Given the description of an element on the screen output the (x, y) to click on. 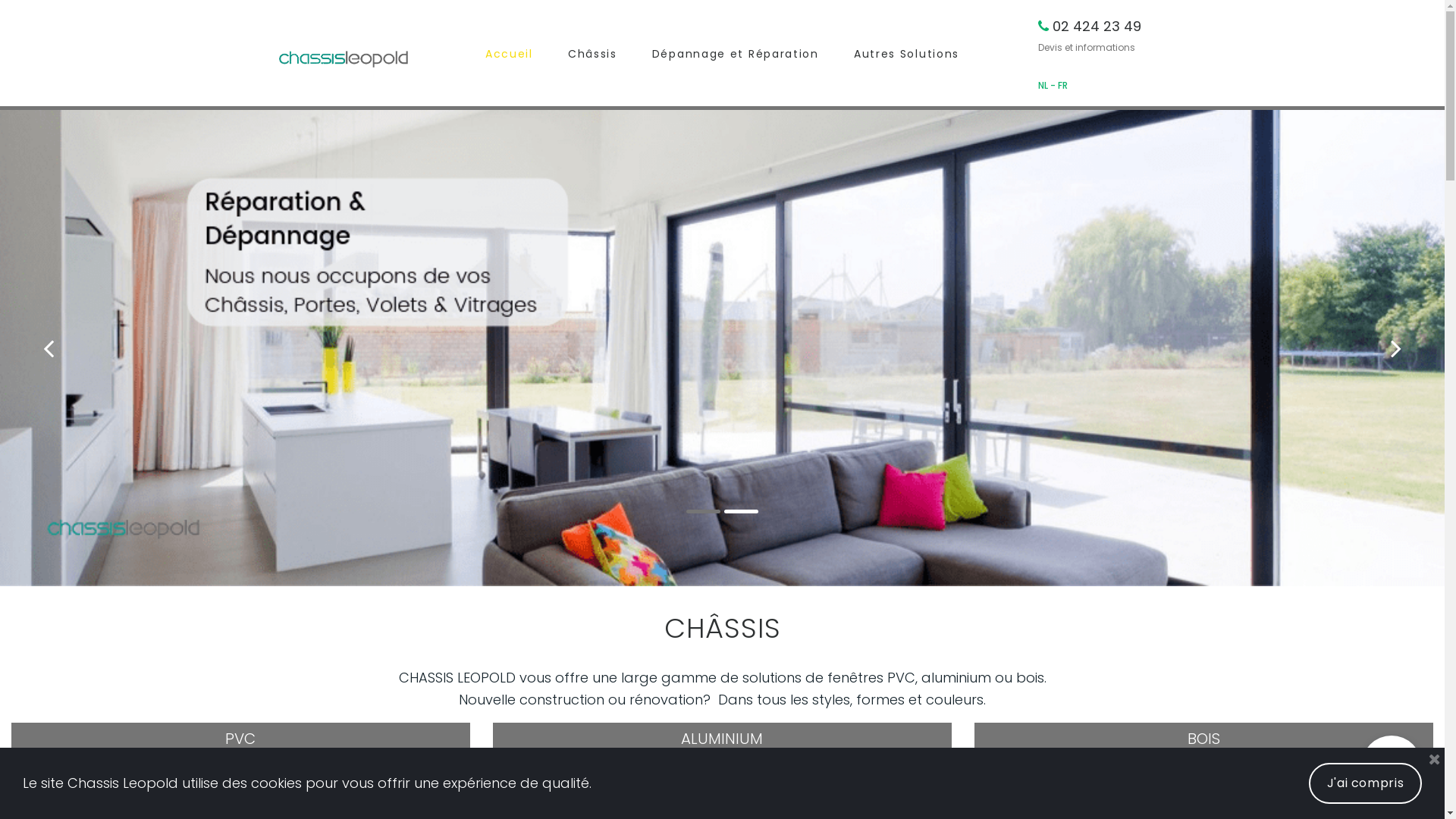
Prev Element type: text (49, 347)
FR Element type: text (1061, 84)
Accueil Element type: text (508, 51)
Autres Solutions Element type: text (906, 51)
NL Element type: text (1043, 84)
J'ai compris Element type: text (1364, 782)
02 424 23 49 Element type: text (1096, 25)
1 Element type: text (703, 511)
2 Element type: text (741, 511)
Next Element type: text (1394, 347)
  Element type: text (1049, 25)
